Given the description of an element on the screen output the (x, y) to click on. 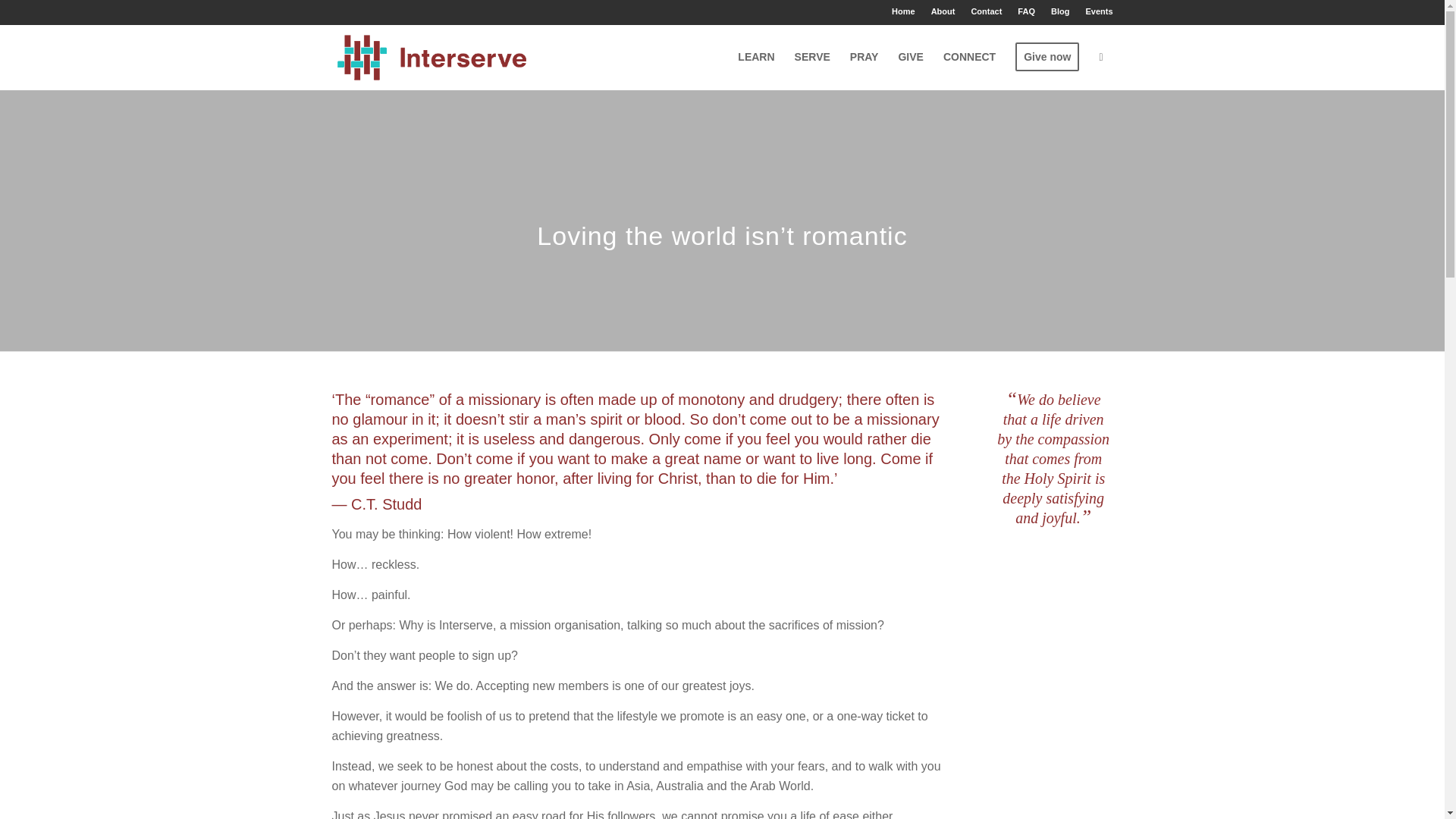
Contact (986, 11)
Events (1098, 11)
Blog (1059, 11)
About (943, 11)
Home (903, 11)
